Given the description of an element on the screen output the (x, y) to click on. 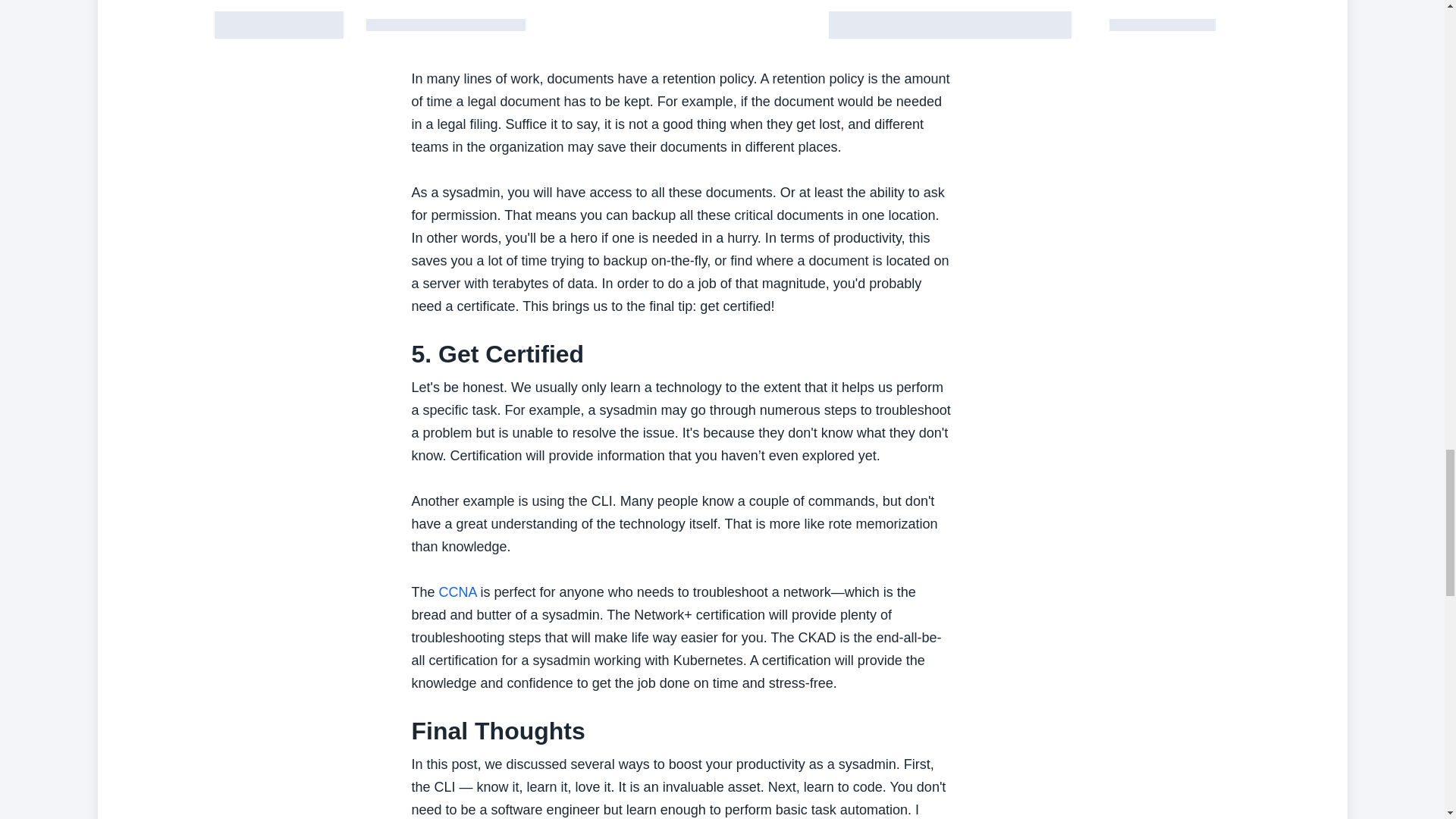
CCNA (458, 591)
